Given the description of an element on the screen output the (x, y) to click on. 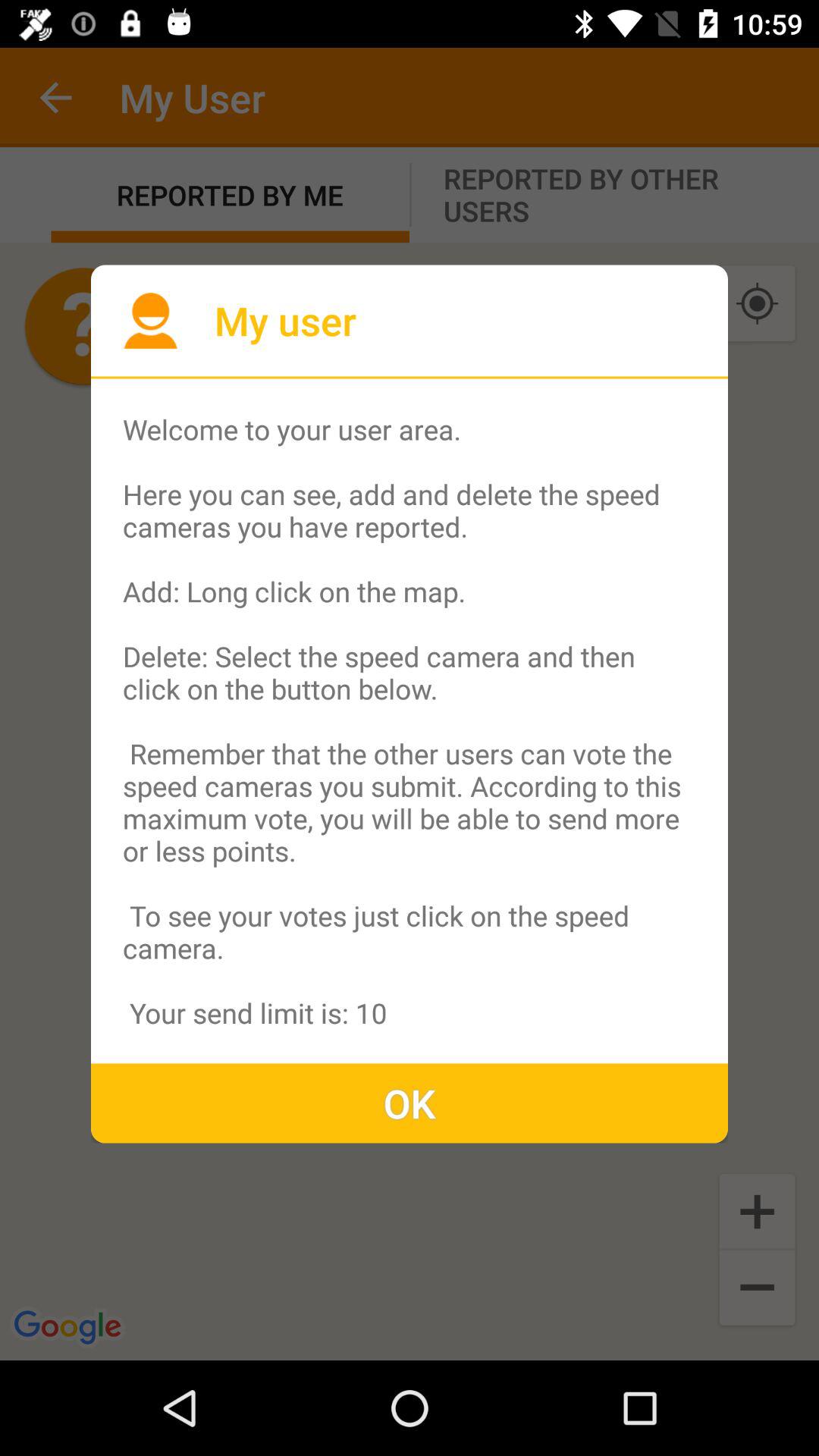
jump to the ok (409, 1103)
